Given the description of an element on the screen output the (x, y) to click on. 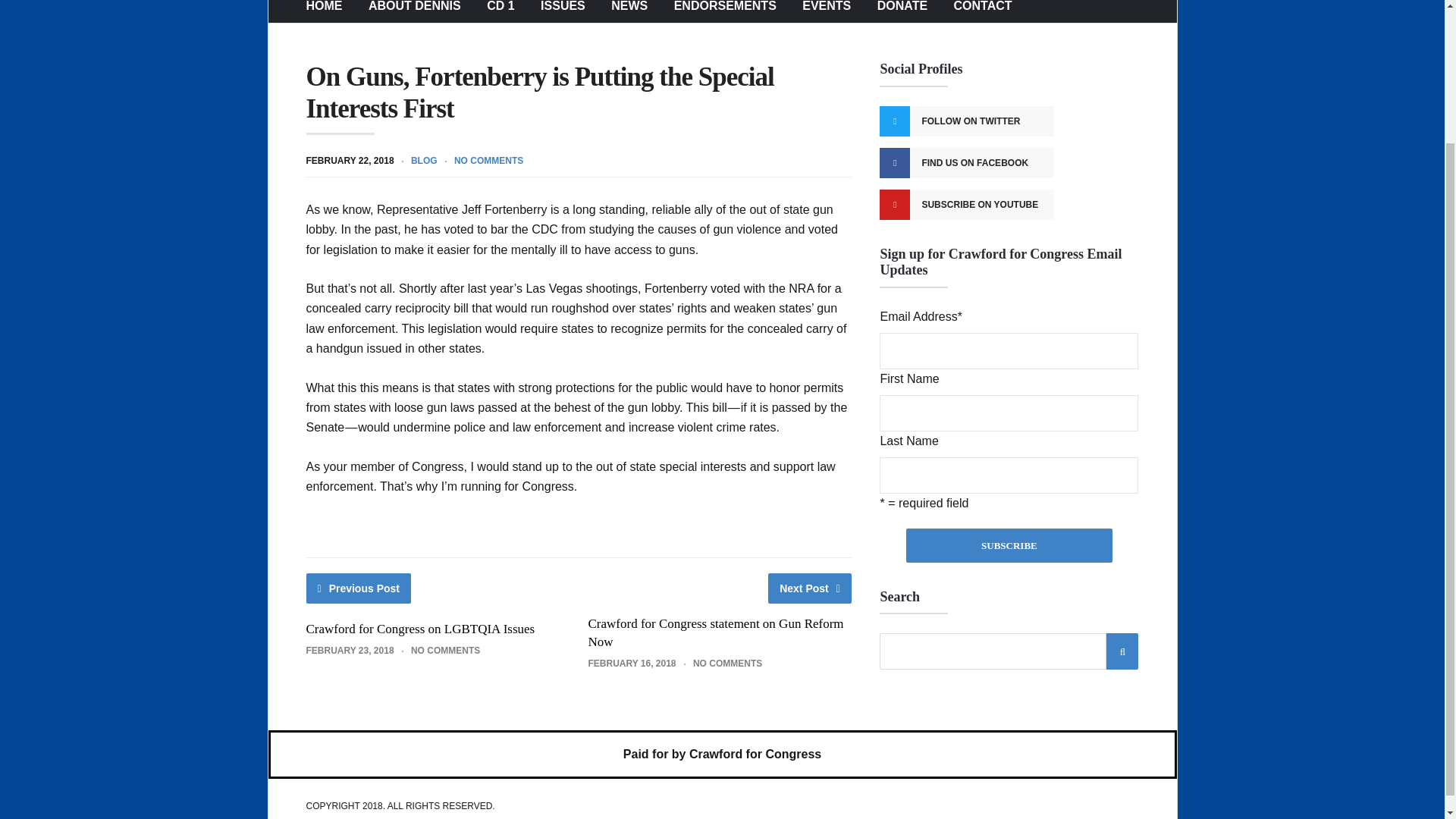
CONTACT (982, 11)
BLOG (424, 160)
FOLLOW ON TWITTER (966, 121)
CD 1 (499, 11)
Next Post (809, 588)
NO COMMENTS (488, 160)
Subscribe (1009, 545)
Previous Post (358, 588)
Subscribe (1009, 545)
NEWS (629, 11)
